Given the description of an element on the screen output the (x, y) to click on. 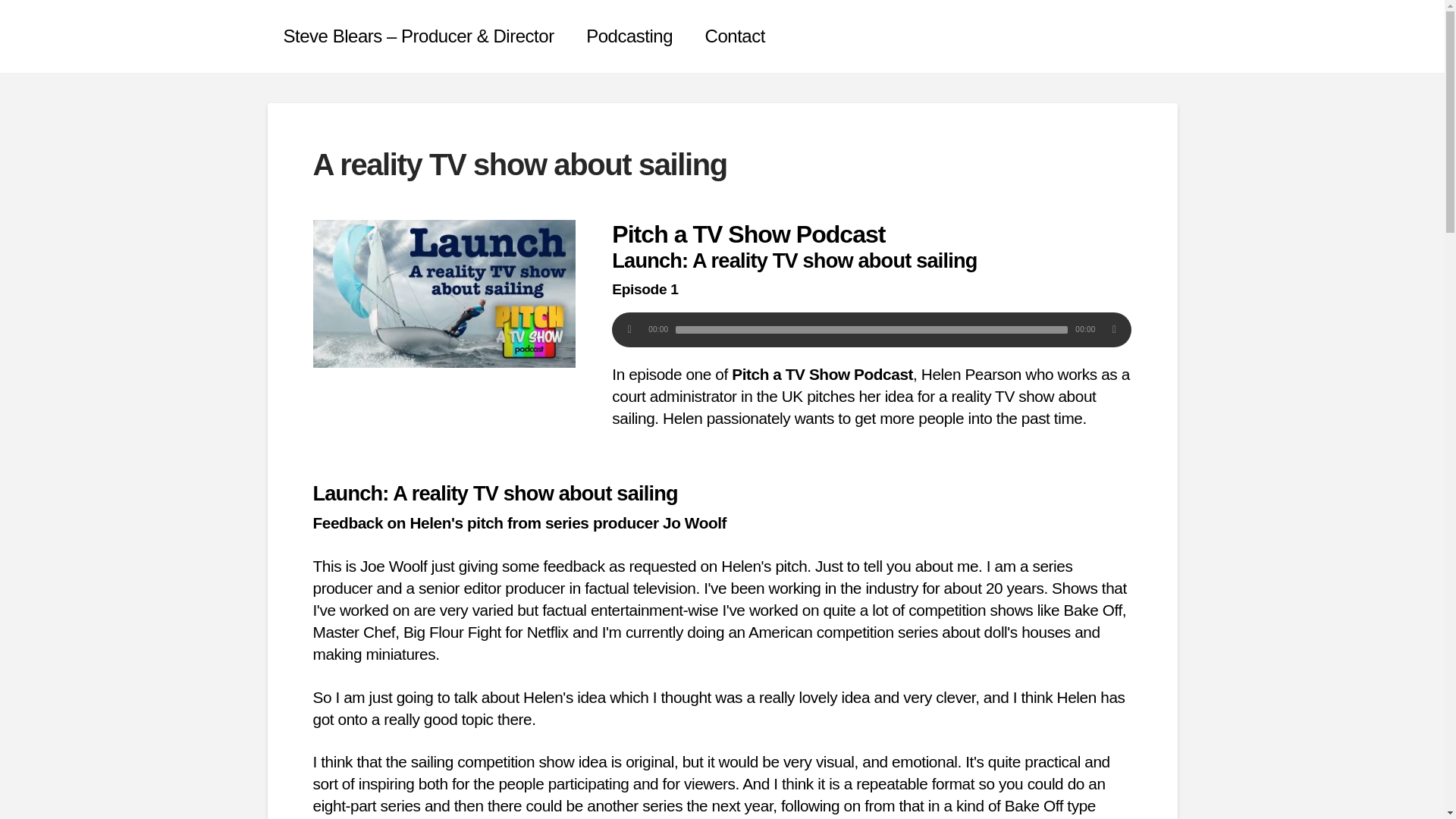
Contact (734, 36)
Mute (1113, 329)
Podcasting (629, 36)
Play (628, 329)
